Given the description of an element on the screen output the (x, y) to click on. 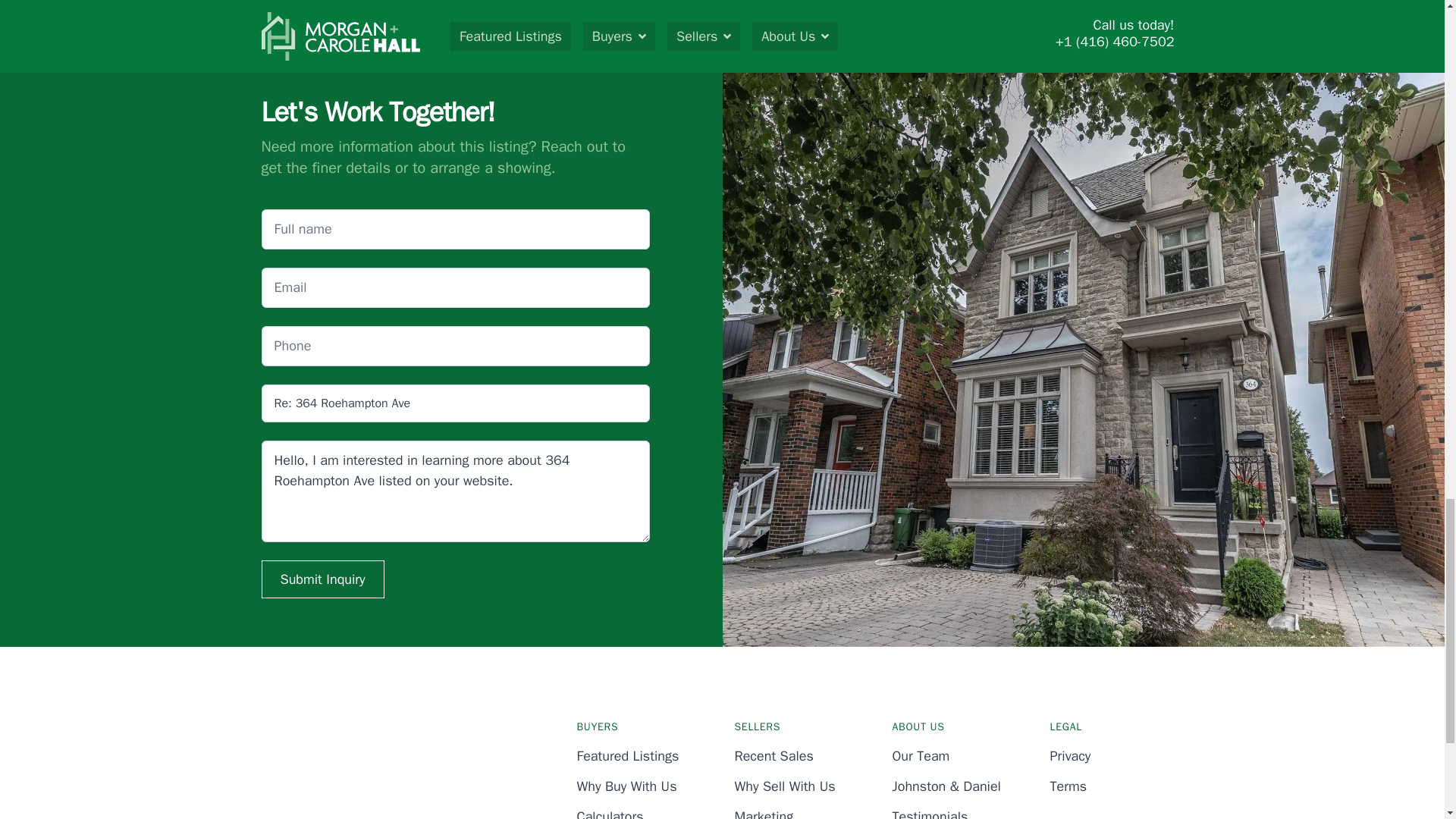
Why Buy With Us (626, 786)
Why Sell With Us (783, 786)
Featured Listings (627, 755)
Recent Sales (772, 755)
Terms (1067, 786)
Re: 364 Roehampton Ave (454, 403)
Submit Inquiry (322, 579)
Privacy (1069, 755)
Testimonials (929, 813)
Our Team (920, 755)
